Given the description of an element on the screen output the (x, y) to click on. 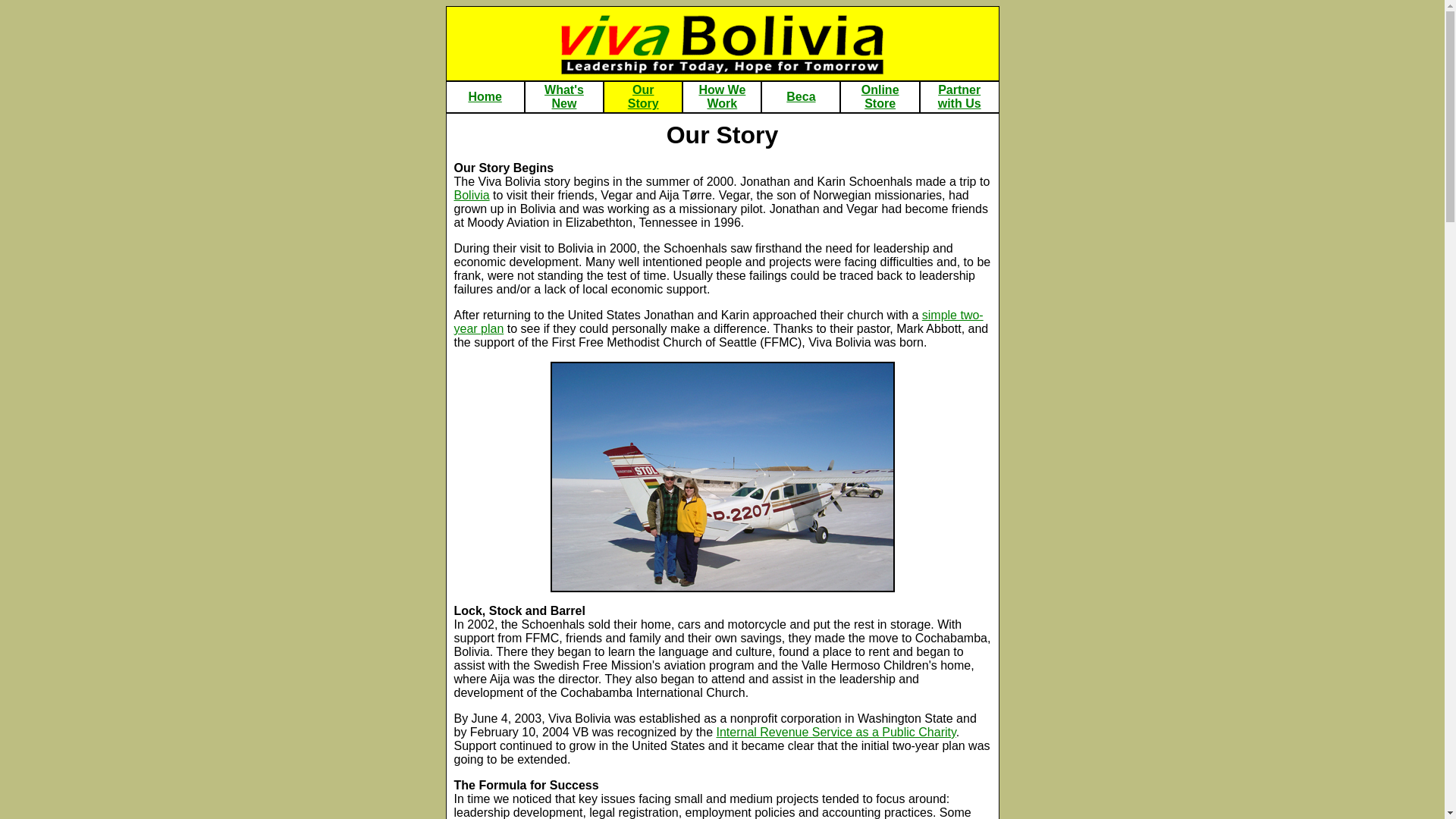
The Formula for Success (525, 784)
simple two-year plan (721, 96)
Home (959, 96)
Internal Revenue Service as a Public Charity (880, 96)
Bolivia (717, 321)
